Given the description of an element on the screen output the (x, y) to click on. 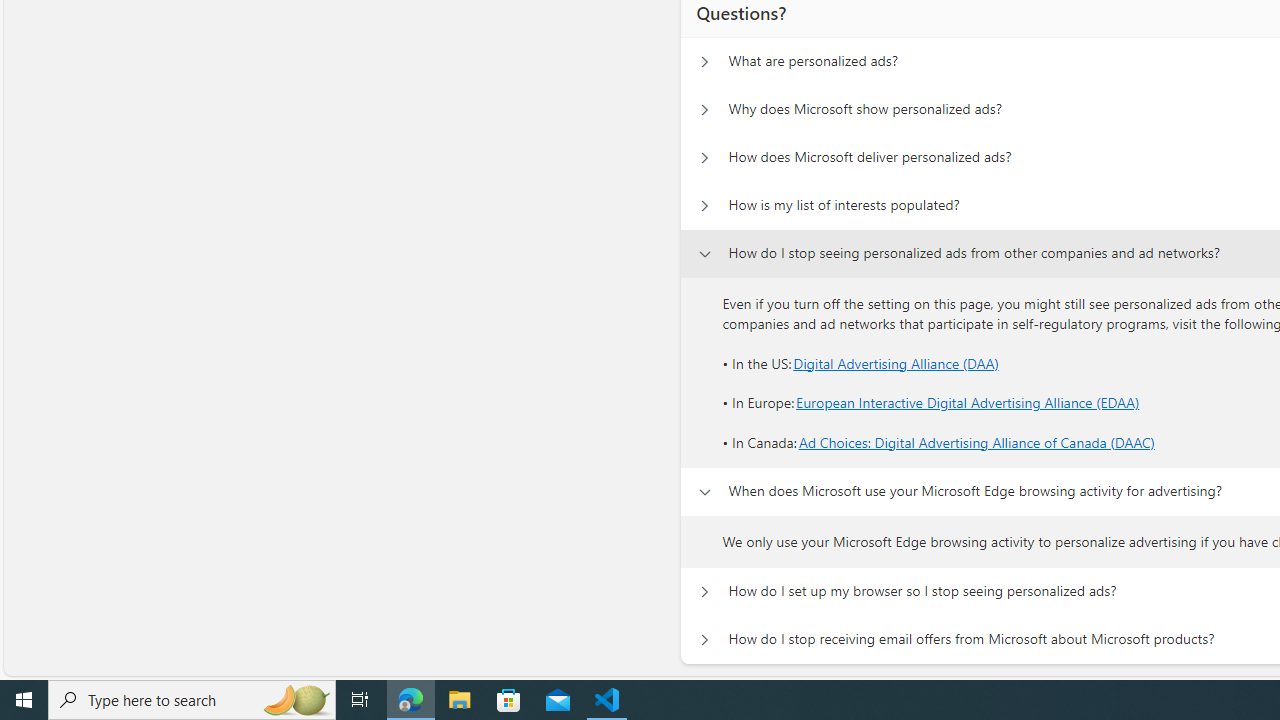
Questions? Why does Microsoft show personalized ads? (704, 110)
European Interactive Digital Advertising Alliance (EDAA) (968, 403)
Questions? What are personalized ads? (704, 62)
Questions? How does Microsoft deliver personalized ads? (704, 157)
Ad Choices: Digital Advertising Alliance of Canada (DAAC) (975, 442)
Questions? How is my list of interests populated? (704, 206)
Digital Advertising Alliance (DAA) (895, 362)
